Given the description of an element on the screen output the (x, y) to click on. 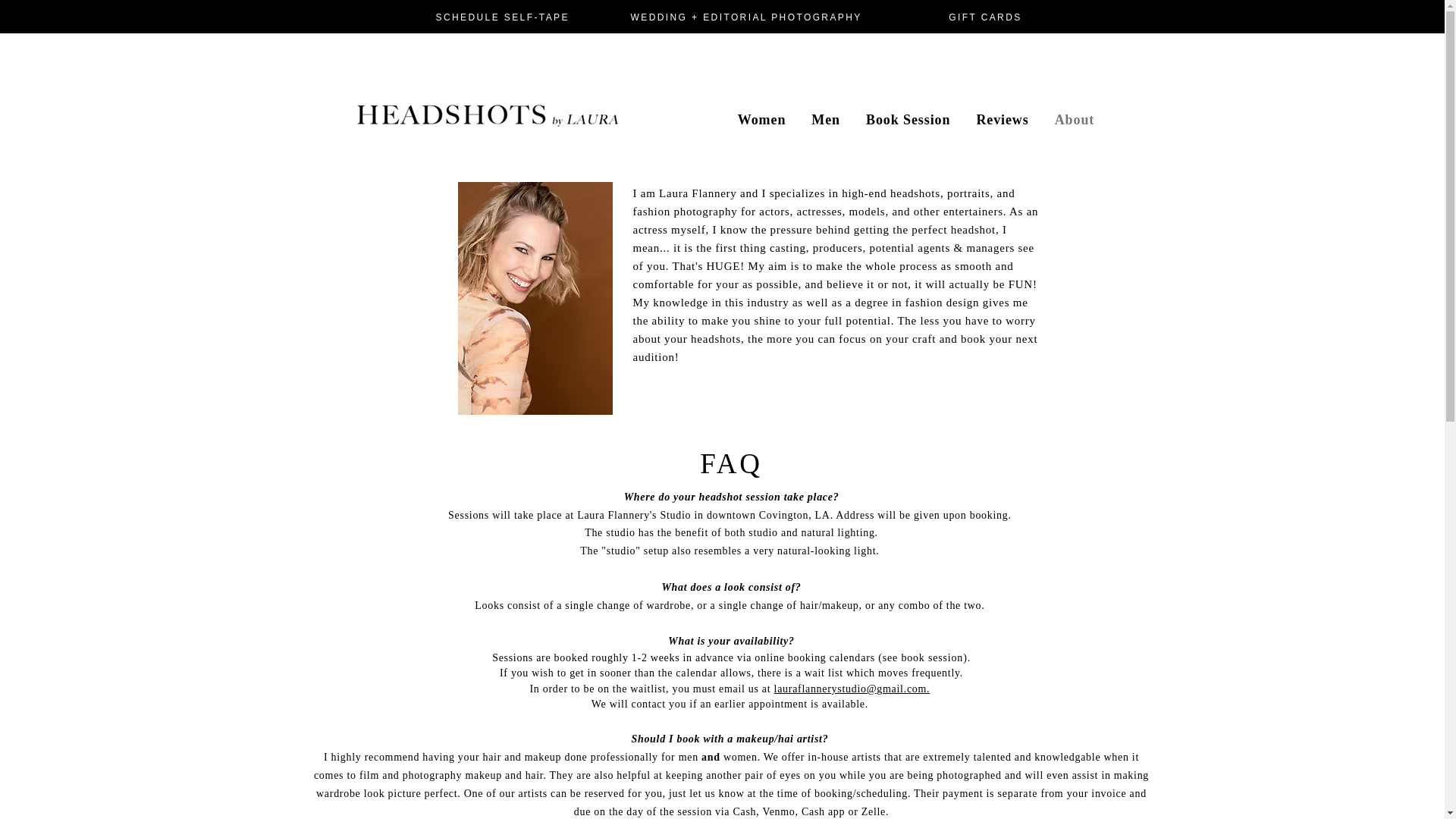
About (1074, 120)
SCHEDULE SELF-TAPE  (504, 17)
Book Session (907, 120)
    GIFT CARDS (976, 17)
Men (825, 120)
Reviews (1002, 120)
Women (762, 120)
